Given the description of an element on the screen output the (x, y) to click on. 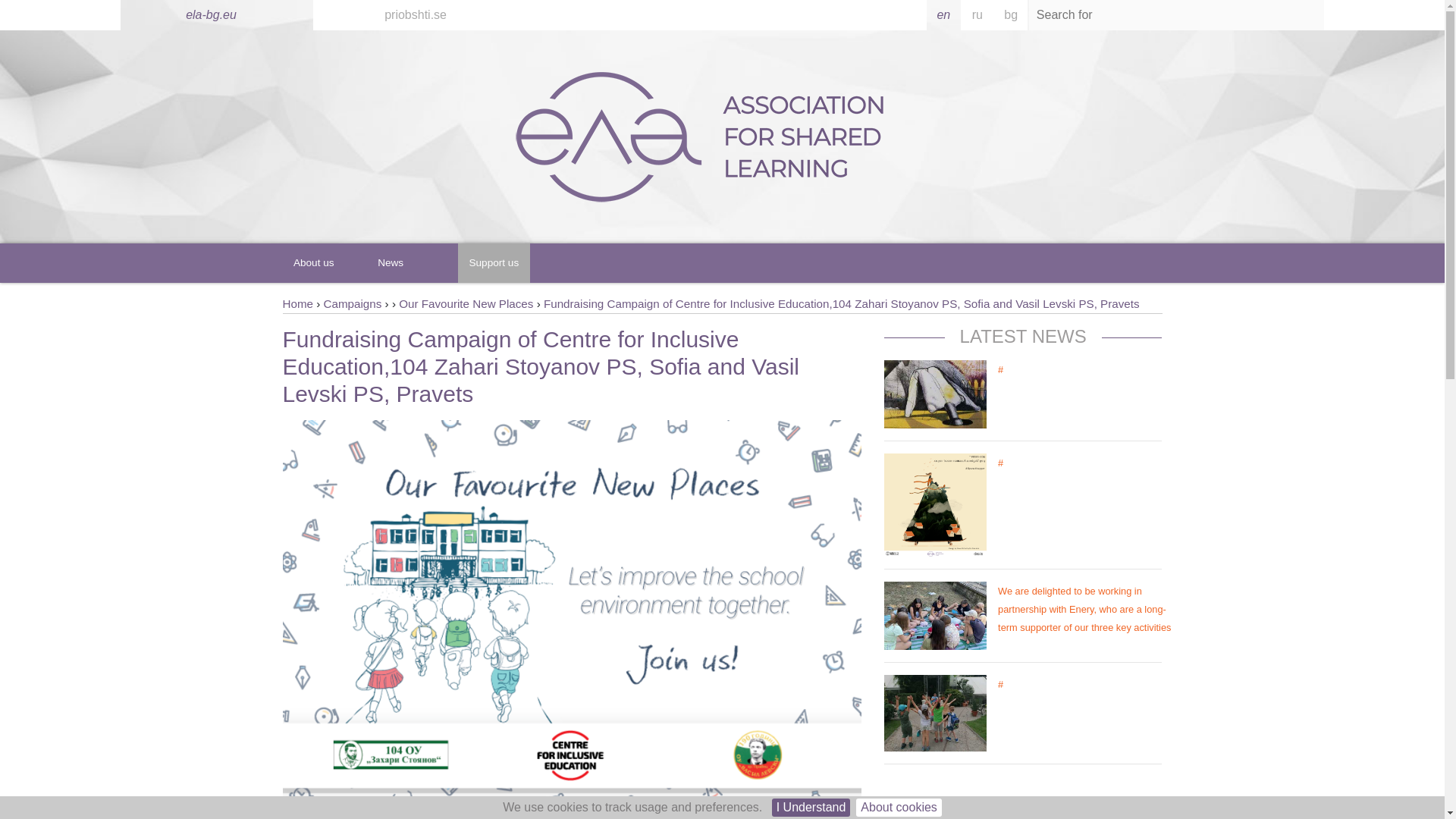
Support us (493, 262)
Our Favourite New Places (465, 303)
ela-bg.eu (297, 303)
Campaigns (352, 303)
News (390, 262)
News (390, 262)
ela-bg.eu (210, 14)
en (942, 15)
About us (312, 262)
I Understand (810, 807)
bg (1010, 15)
Support us (493, 262)
